Given the description of an element on the screen output the (x, y) to click on. 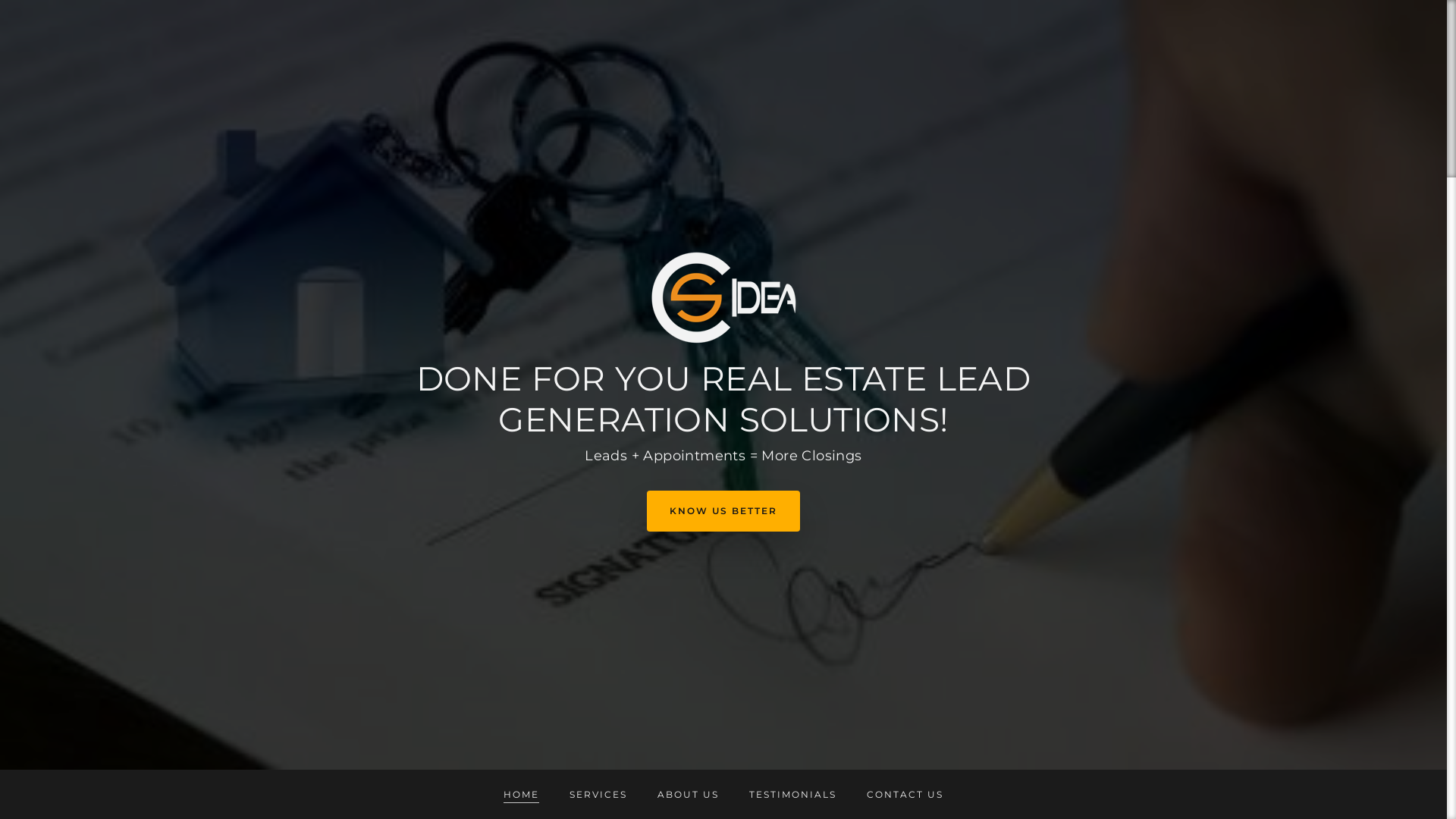
CONTACT US Element type: text (904, 785)
TESTIMONIALS Element type: text (792, 785)
ABOUT US Element type: text (687, 785)
HOME Element type: text (521, 785)
SERVICES Element type: text (598, 785)
KNOW US BETTER Element type: text (723, 510)
